Given the description of an element on the screen output the (x, y) to click on. 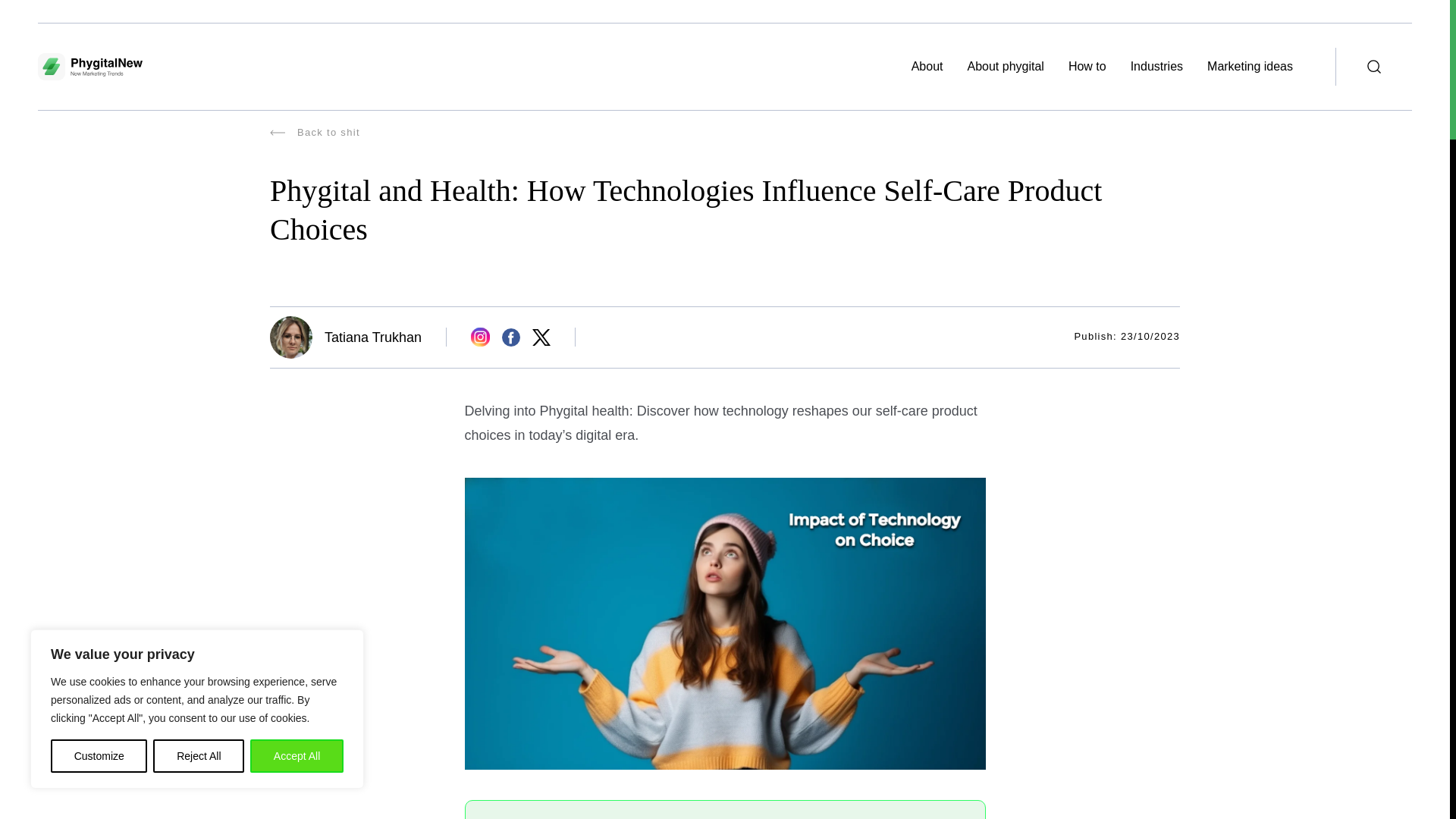
Accept All (296, 756)
About (927, 65)
Customize (98, 756)
About phygital (1005, 65)
How to (1087, 65)
Back to shit (724, 148)
Tatiana Trukhan (373, 336)
Industries (1156, 65)
Reject All (198, 756)
Marketing ideas (1249, 65)
